Given the description of an element on the screen output the (x, y) to click on. 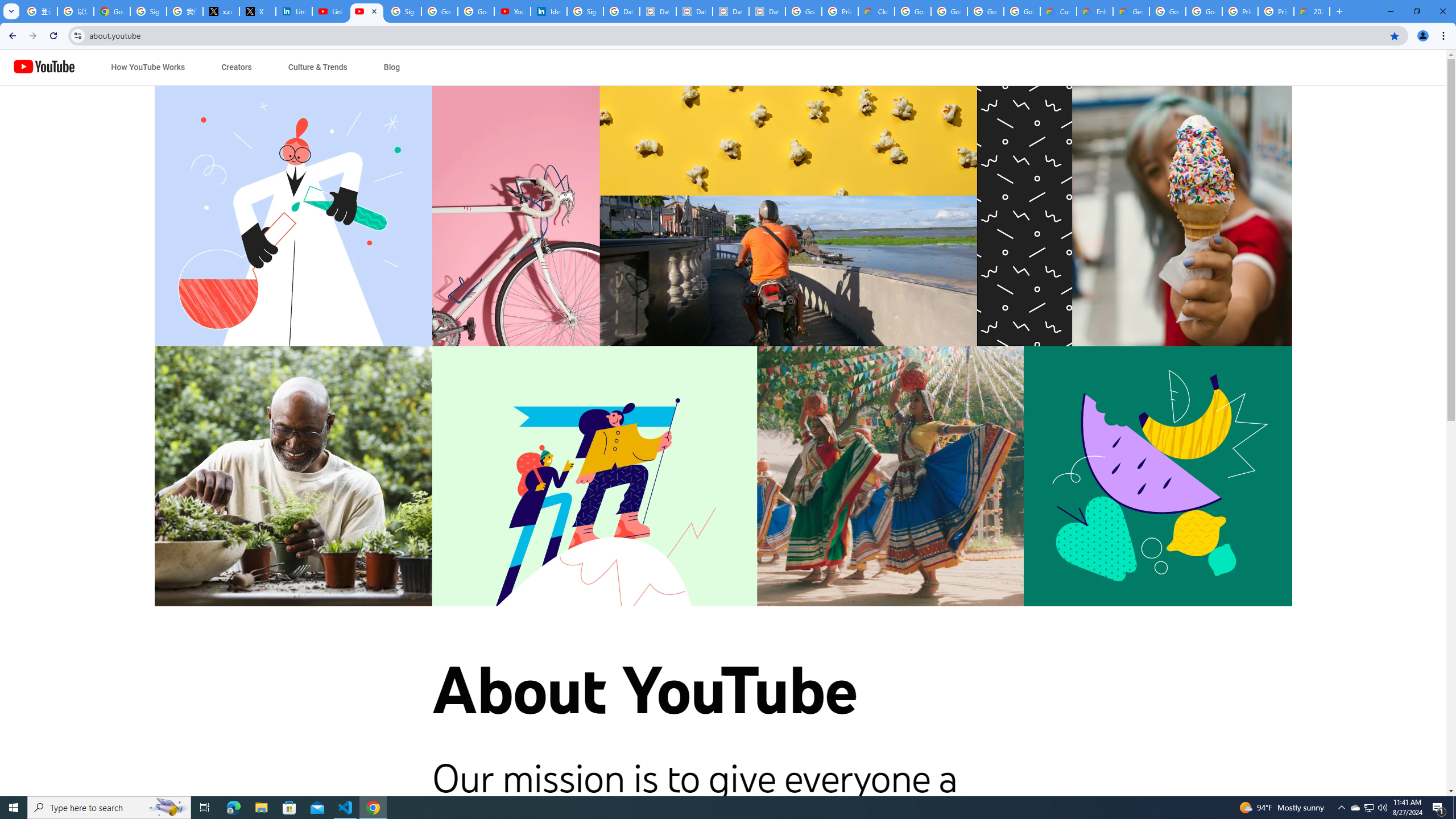
Blog (391, 67)
Sign in - Google Accounts (403, 11)
Culture & Trends (317, 67)
How YouTube Works (147, 67)
Data Privacy Framework (767, 11)
Google Cloud Platform (1167, 11)
Gemini for Business and Developers | Google Cloud (1131, 11)
Home page link (44, 67)
About YouTube - YouTube (366, 11)
